Given the description of an element on the screen output the (x, y) to click on. 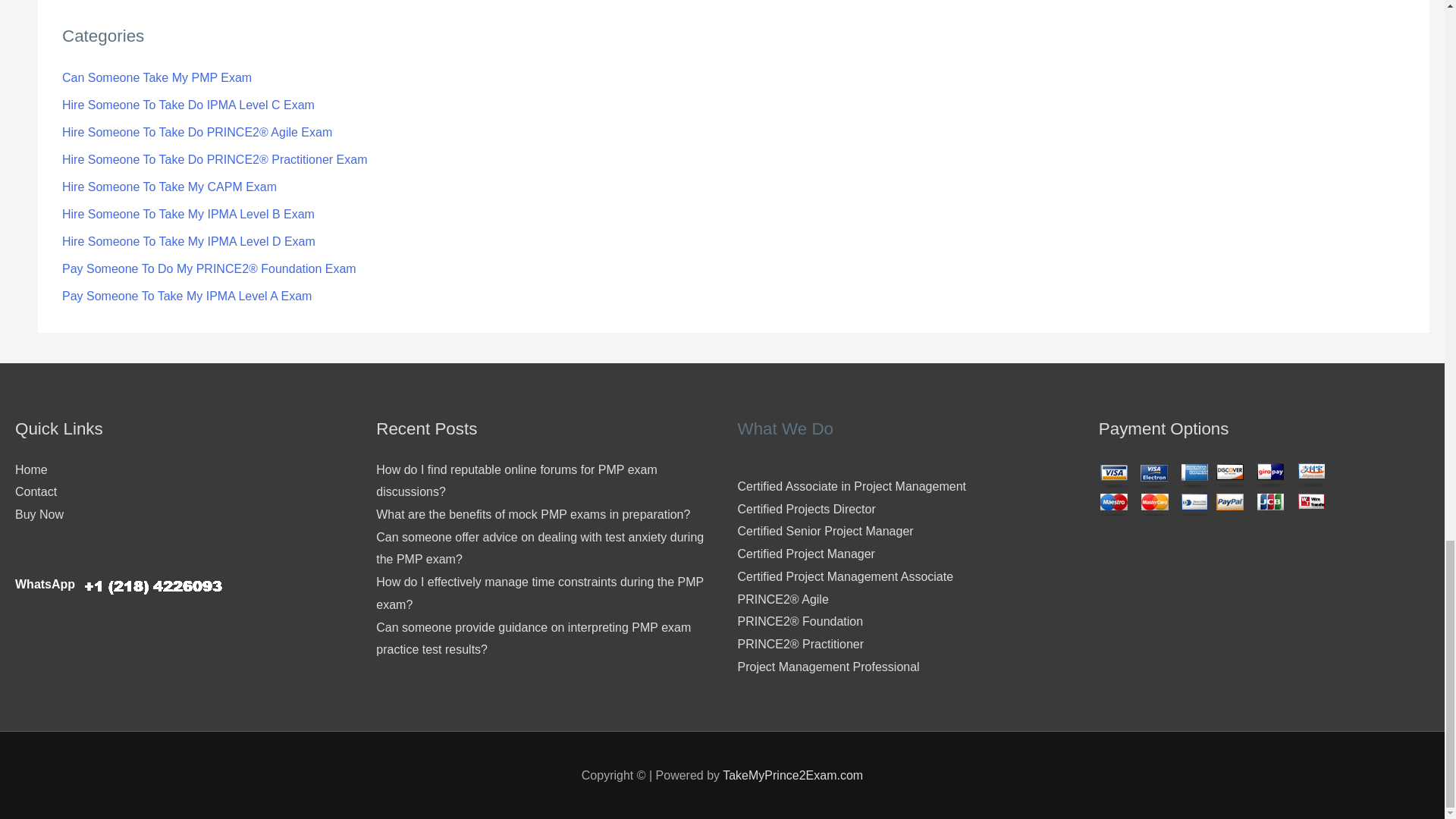
Hire Someone To Take My IPMA Level B Exam (188, 214)
Hire Someone To Take Do IPMA Level C Exam (188, 104)
Hire Someone To Take My IPMA Level D Exam (188, 241)
Can Someone Take My PMP Exam (156, 77)
Hire Someone To Take My CAPM Exam (169, 186)
